Given the description of an element on the screen output the (x, y) to click on. 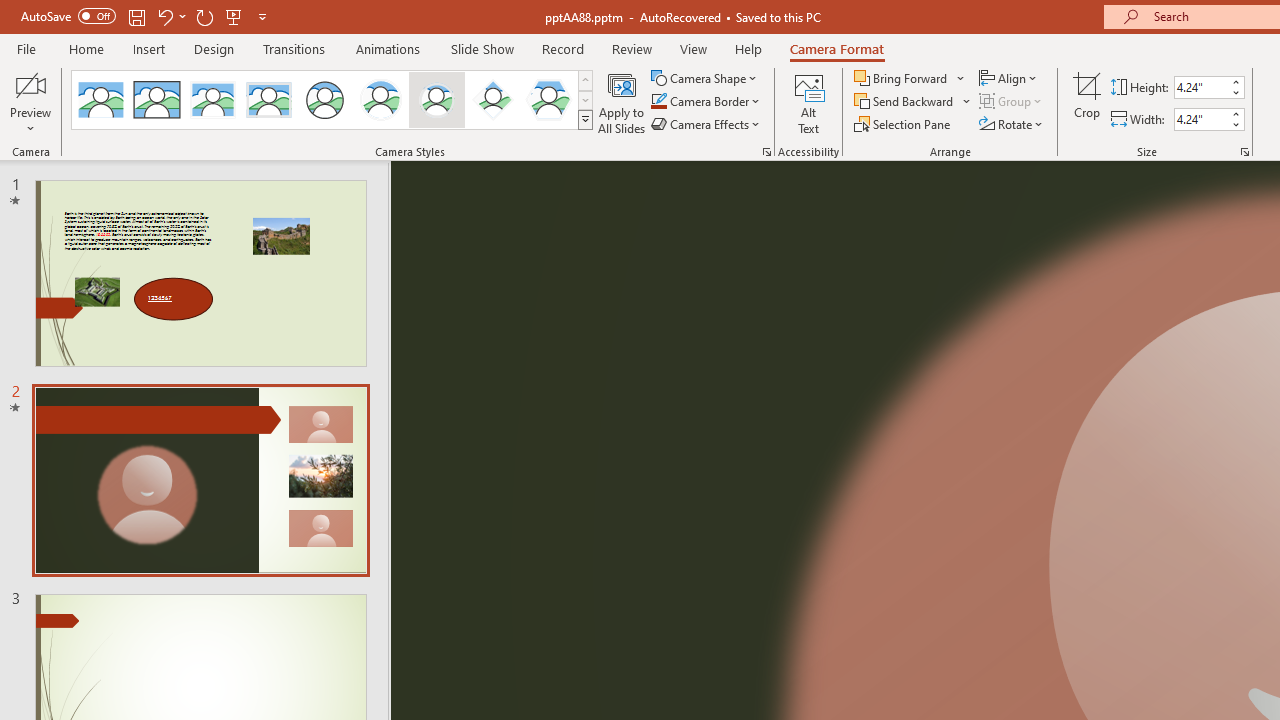
Insert (149, 48)
Row up (585, 79)
Align (1009, 78)
Slide Show (481, 48)
Format Object... (766, 151)
Center Shadow Hexagon (548, 100)
Animations (388, 48)
Size and Position... (1244, 151)
Alt Text (808, 102)
Bring Forward (910, 78)
Camera Format (836, 48)
Camera Styles (585, 120)
Bring Forward (902, 78)
Simple Frame Rectangle (157, 100)
